Given the description of an element on the screen output the (x, y) to click on. 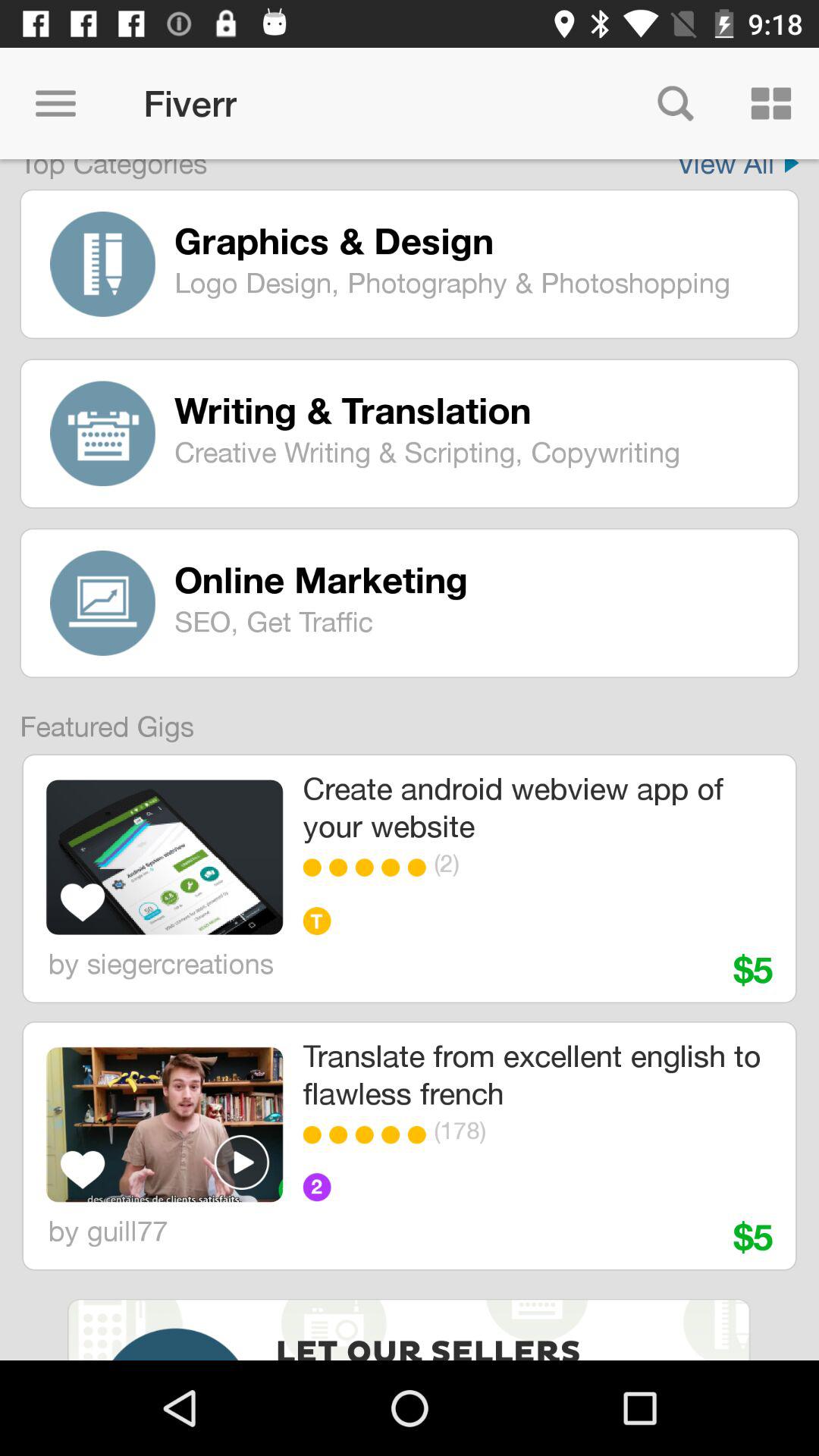
turn off the icon next to translate from excellent item (164, 1124)
